Given the description of an element on the screen output the (x, y) to click on. 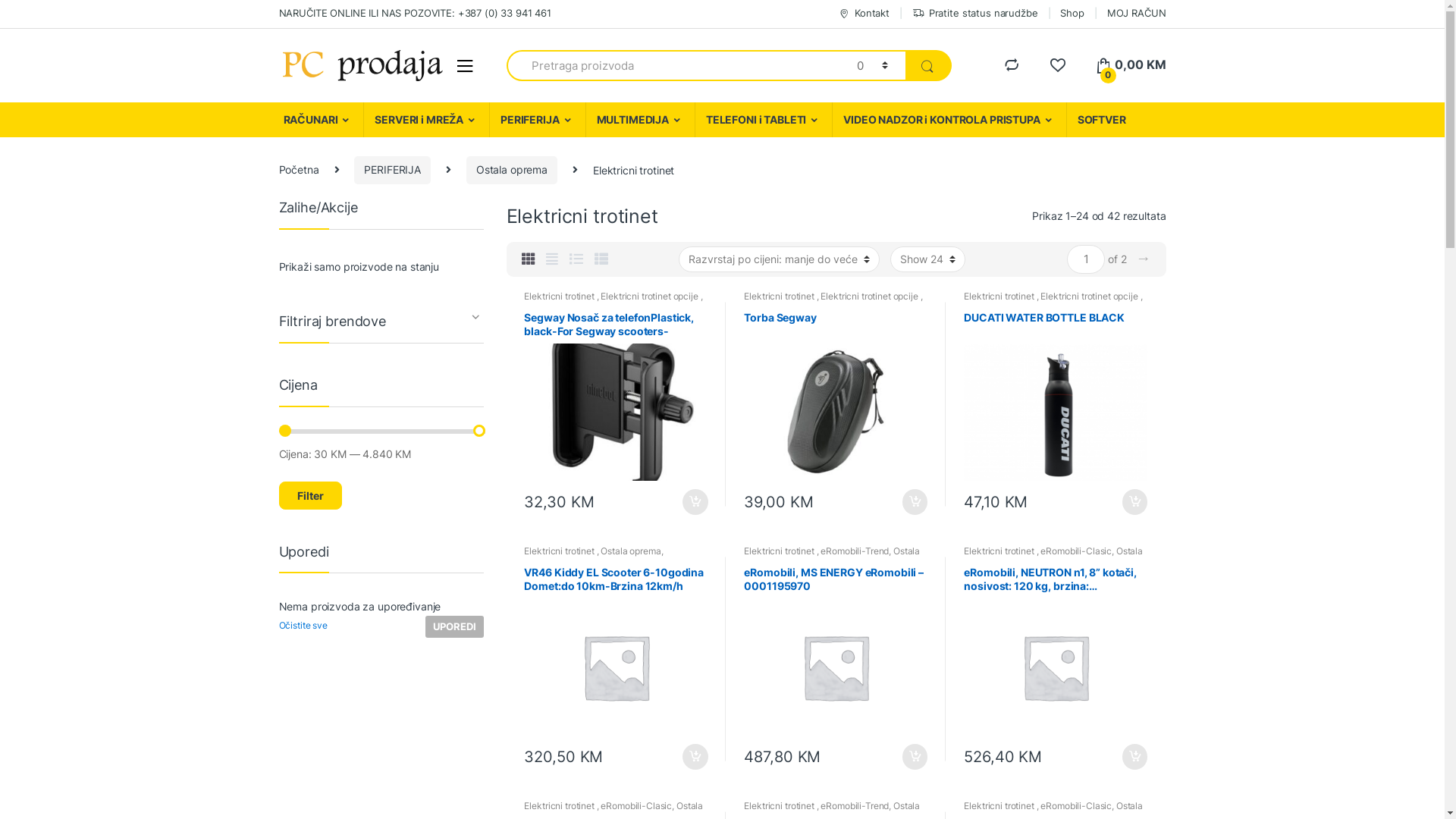
Ostala oprema Element type: text (511, 170)
eRomobili-Clasic Element type: text (1075, 805)
Ostala oprema Element type: text (831, 555)
Shop Element type: text (1071, 13)
PERIFERIJA Element type: text (1052, 305)
List View Element type: hover (576, 259)
Elektricni trotinet  Element type: text (779, 805)
Grid Extended View Element type: hover (552, 259)
VR46 Kiddy EL Scooter 6-10godina Domet:do 10km-Brzina 12km/h Element type: text (615, 650)
Torba Segway Element type: text (835, 395)
Elektricni trotinet  Element type: text (560, 295)
Ostala oprema Element type: text (1052, 555)
Elektricni trotinet  Element type: text (999, 805)
Elektricni trotinet  Element type: text (560, 805)
PERIFERIJA Element type: text (392, 170)
Grid View Element type: hover (528, 259)
PERIFERIJA Element type: text (832, 305)
Dodaj u korpu Element type: text (1133, 756)
Filter Element type: text (310, 495)
Ostala oprema Element type: text (630, 550)
PERIFERIJA Element type: text (803, 560)
Elektricni trotinet opcije  Element type: text (1089, 295)
PERIFERIJA Element type: text (536, 119)
Elektricni trotinet opcije  Element type: text (869, 295)
MULTIMEDIJA Element type: text (639, 119)
eRomobili-Clasic Element type: text (635, 805)
Elektricni trotinet  Element type: text (779, 295)
Elektricni trotinet  Element type: text (999, 295)
Ostala oprema Element type: text (553, 305)
eRomobili-Trend Element type: text (854, 550)
DUCATI WATER BOTTLE BLACK Element type: text (1055, 395)
List View Small Element type: hover (601, 259)
M Element type: hover (464, 65)
Elektricni trotinet opcije  Element type: text (649, 295)
Elektricni trotinet  Element type: text (779, 550)
Dodaj u korpu Element type: text (694, 756)
Elektricni trotinet  Element type: text (999, 550)
TELEFONI i TABLETI Element type: text (762, 119)
Dodaj u korpu Element type: text (1133, 501)
Dodaj u korpu Element type: text (914, 756)
Ostala oprema Element type: text (993, 305)
PERIFERIJA Element type: text (548, 560)
Ostala oprema Element type: text (773, 305)
Kontakt Element type: text (863, 13)
PERIFERIJA Element type: text (612, 305)
PERIFERIJA Element type: text (1023, 560)
0
0,00 KM Element type: text (1130, 64)
eRomobili-Trend Element type: text (854, 805)
VIDEO NADZOR i KONTROLA PRISTUPA Element type: text (948, 119)
SOFTVER Element type: text (1101, 119)
Dodaj u korpu Element type: text (694, 501)
Elektricni trotinet  Element type: text (560, 550)
Dodaj u korpu Element type: text (914, 501)
UPOREDI Element type: text (454, 626)
eRomobili-Clasic Element type: text (1075, 550)
